Given the description of an element on the screen output the (x, y) to click on. 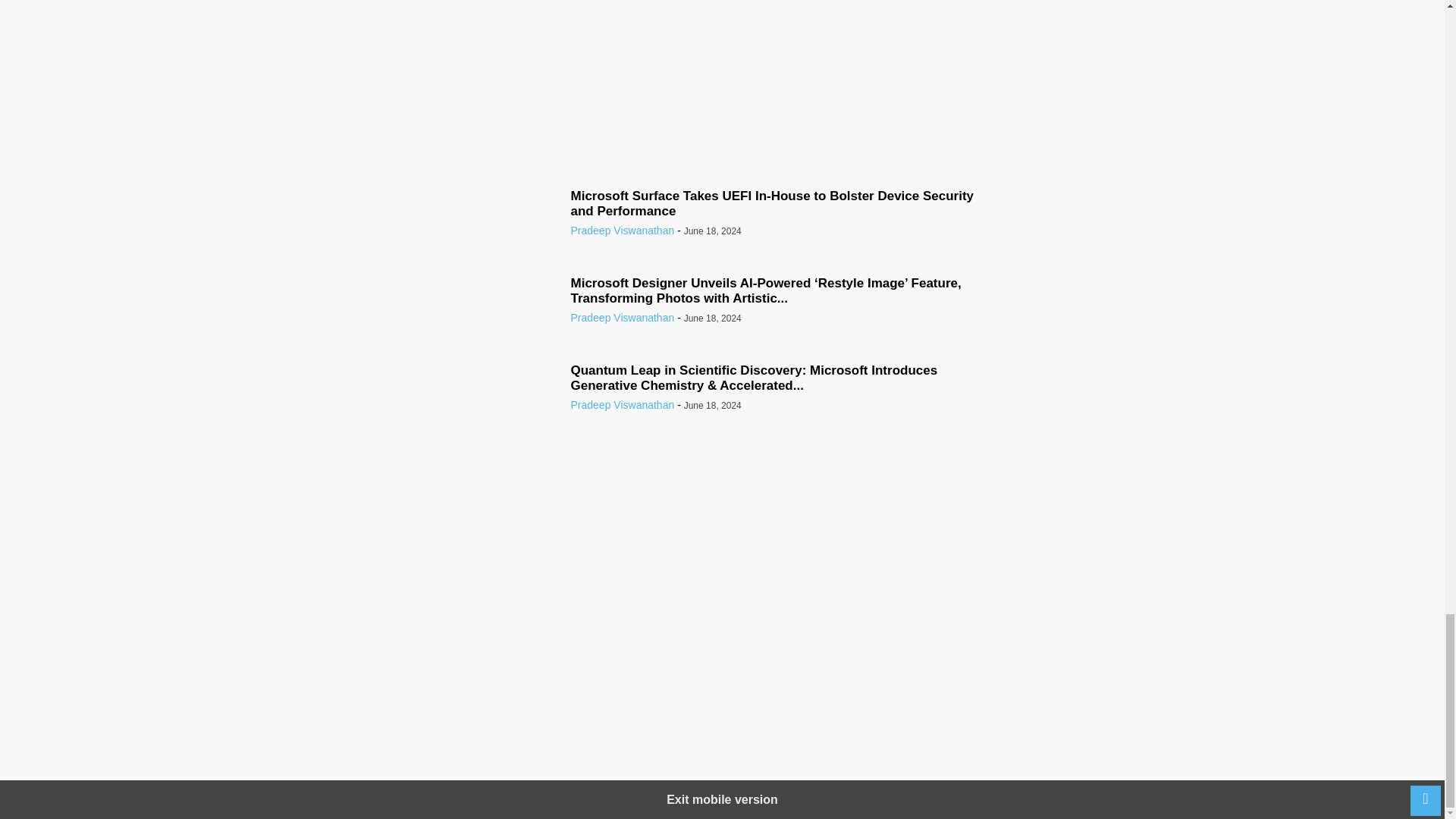
Pradeep Viswanathan (622, 404)
Pradeep Viswanathan (622, 317)
Twitter (718, 85)
Pradeep Viswanathan (622, 230)
Pradeep Viswanathan (721, 50)
